Given the description of an element on the screen output the (x, y) to click on. 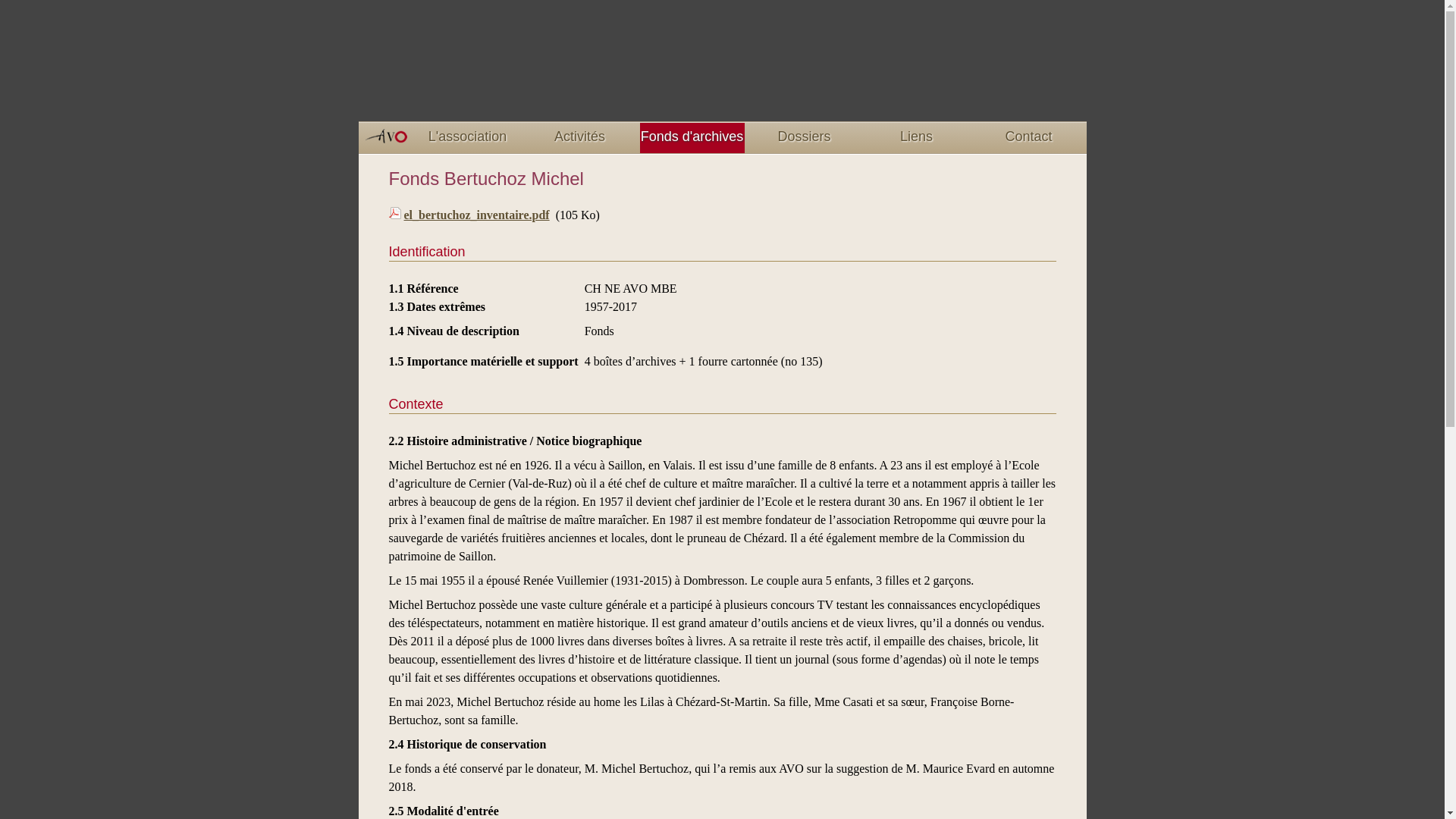
Liens Element type: text (916, 137)
Dossiers Element type: text (804, 137)
Fonds d'archives Element type: text (692, 137)
Accueil Element type: text (721, 69)
el_bertuchoz_inventaire.pdf Element type: text (476, 214)
Contact Element type: text (1028, 137)
L'association Element type: text (467, 137)
